Given the description of an element on the screen output the (x, y) to click on. 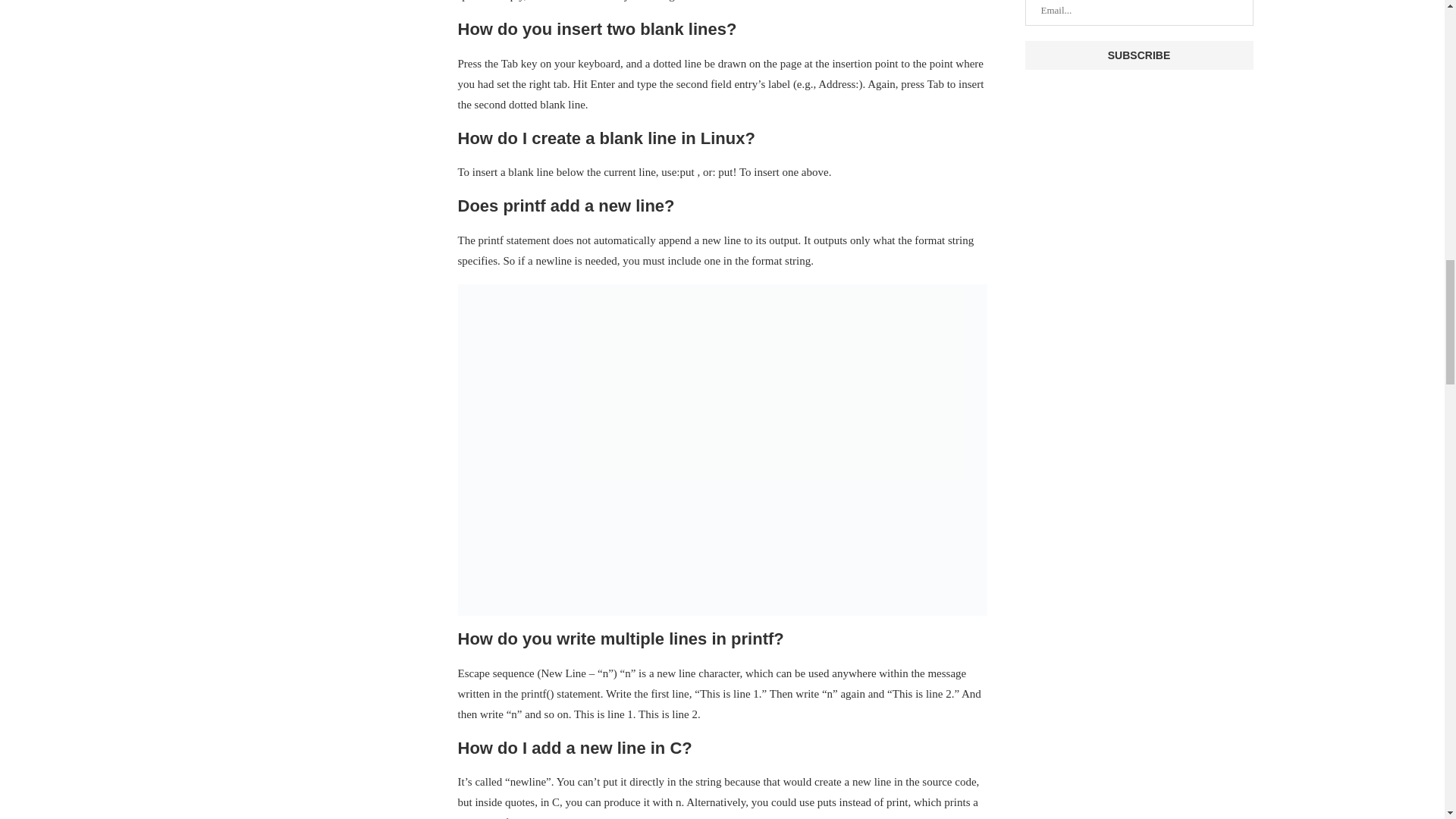
Subscribe (1139, 54)
